Given the description of an element on the screen output the (x, y) to click on. 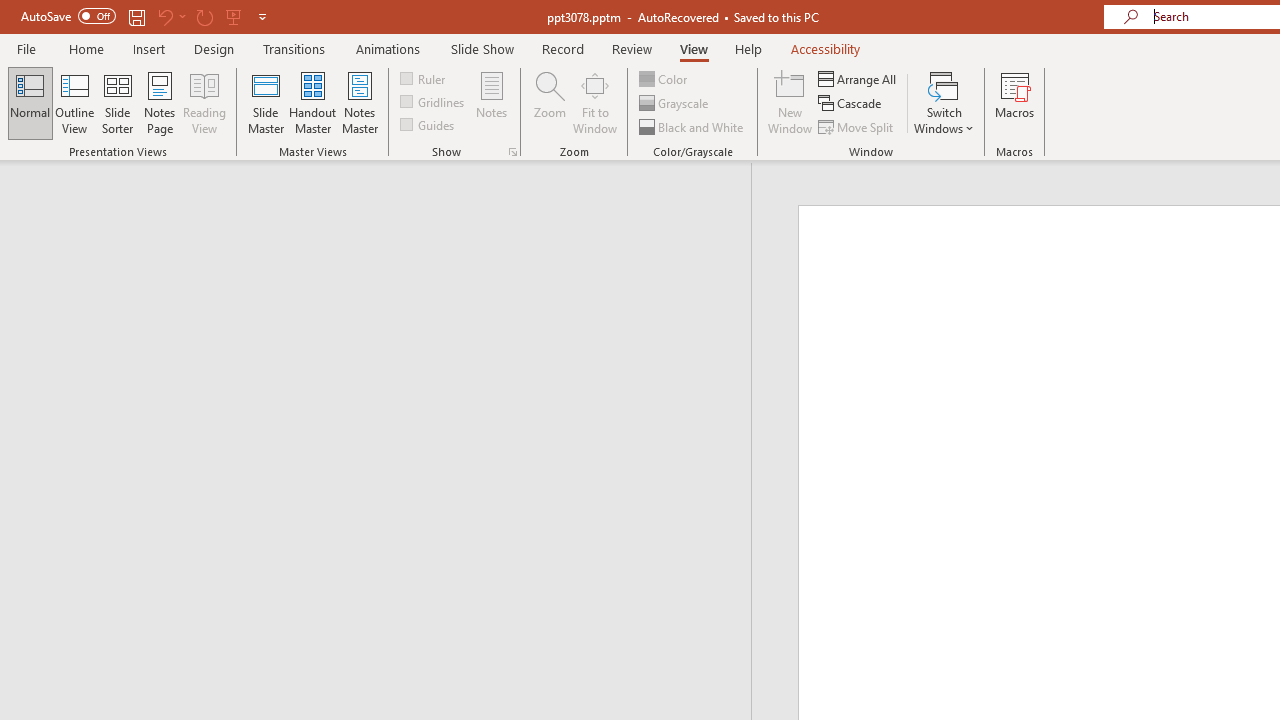
Guides (428, 124)
Gridlines (433, 101)
